Given the description of an element on the screen output the (x, y) to click on. 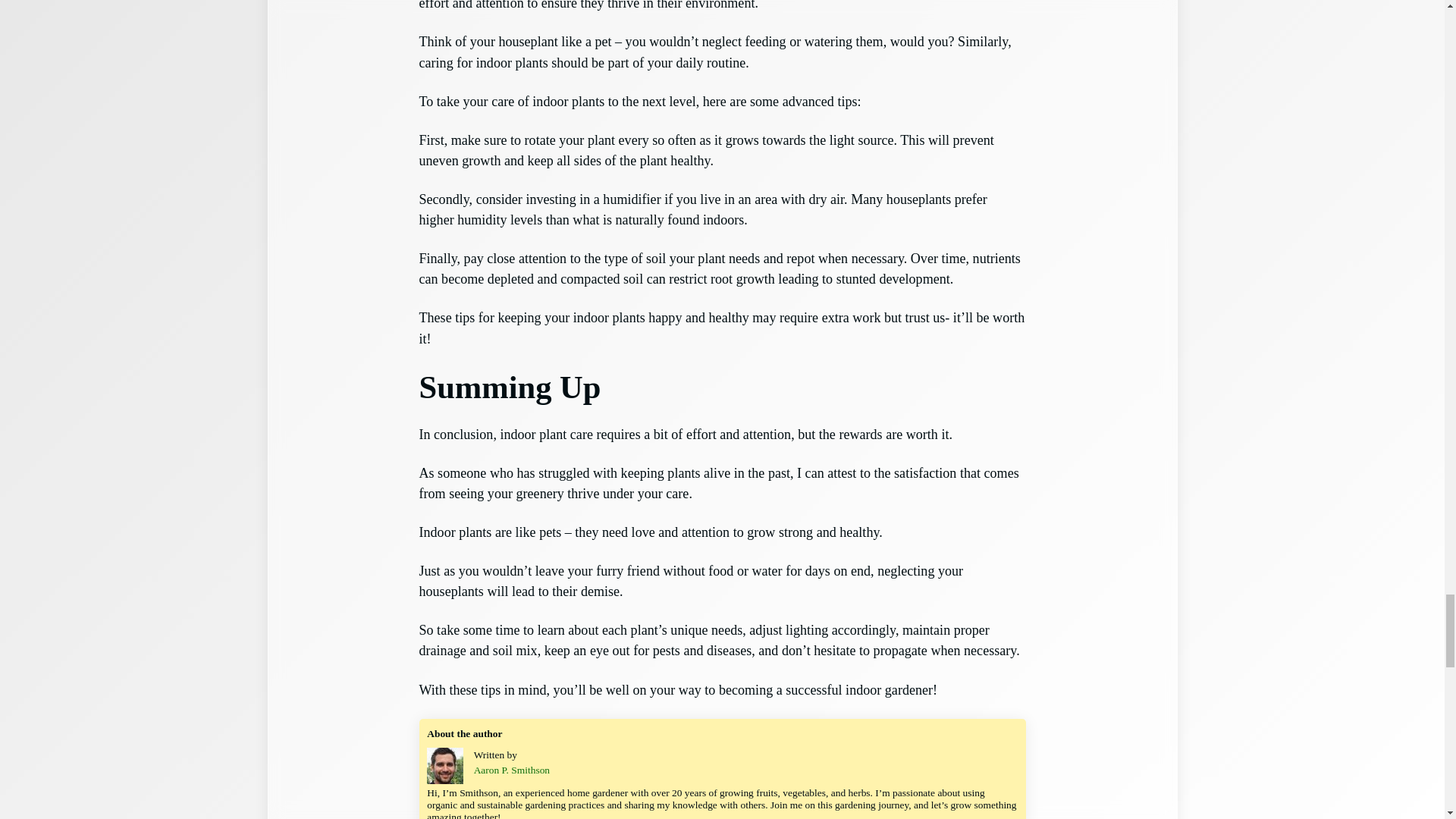
Aaron P. Smithson (512, 769)
